Given the description of an element on the screen output the (x, y) to click on. 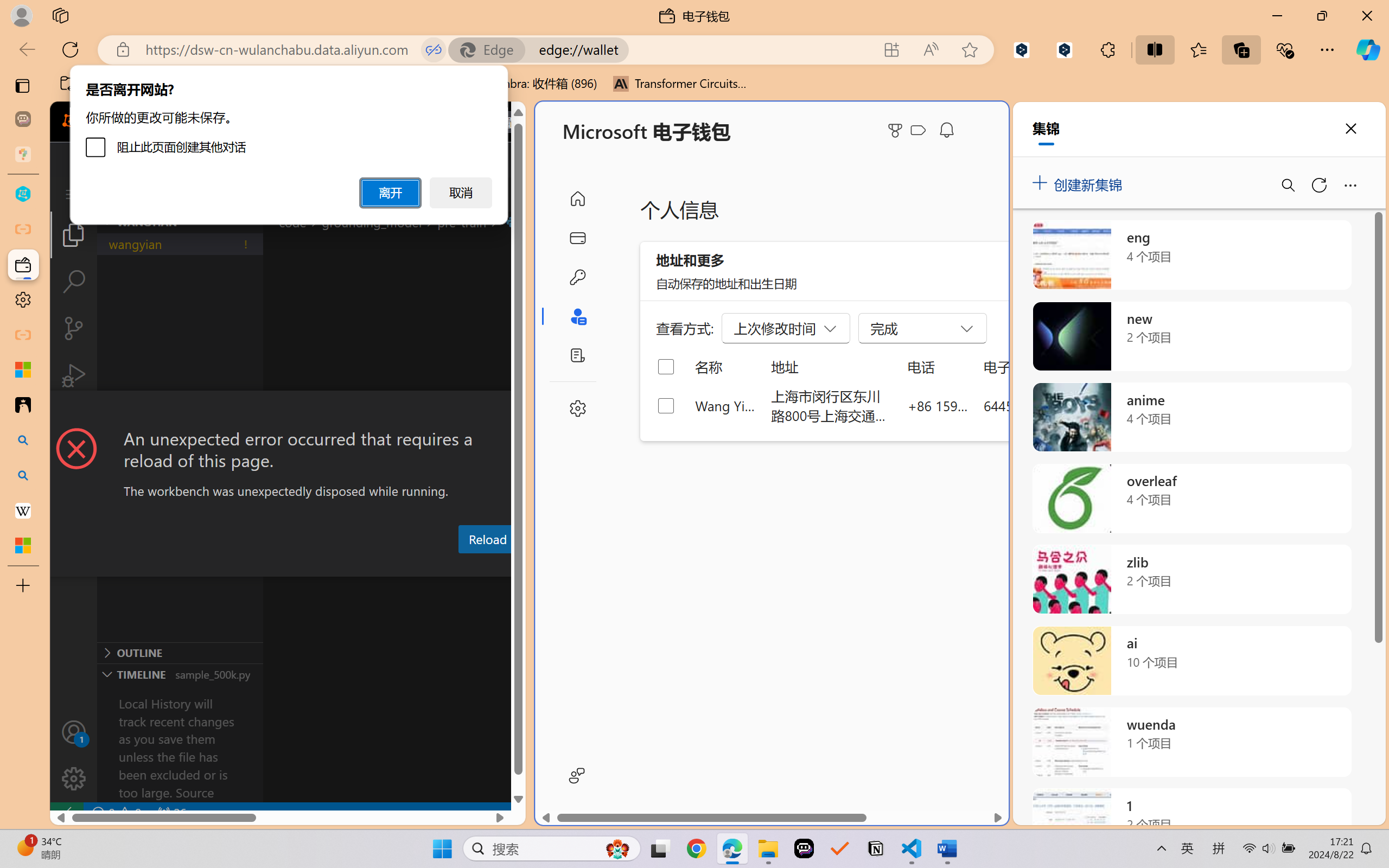
Run and Debug (Ctrl+Shift+D) (73, 375)
Close Dialog (520, 410)
Output (Ctrl+Shift+U) (377, 565)
Outline Section (179, 652)
